Given the description of an element on the screen output the (x, y) to click on. 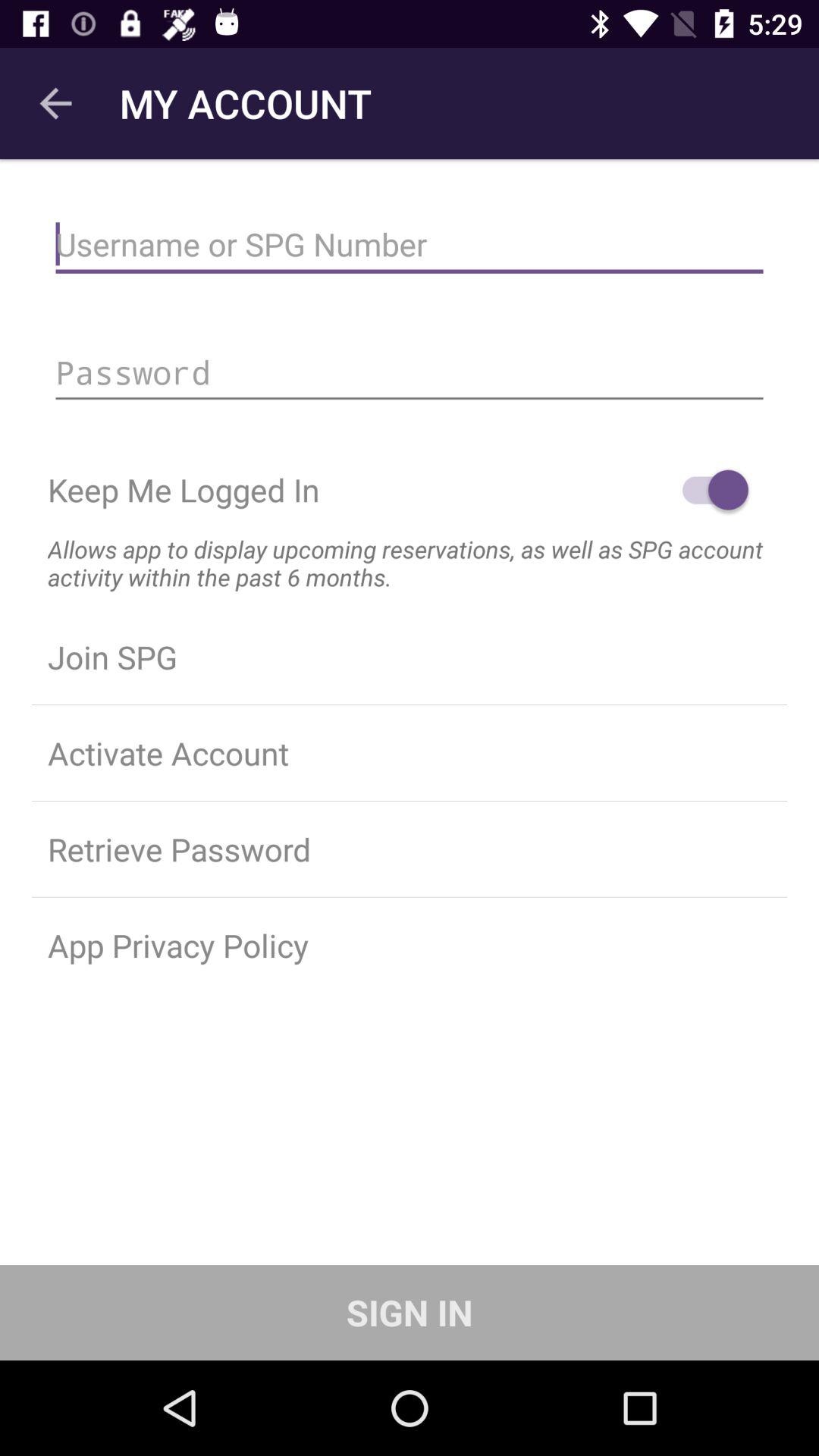
tap the icon next to keep me logged icon (707, 489)
